Given the description of an element on the screen output the (x, y) to click on. 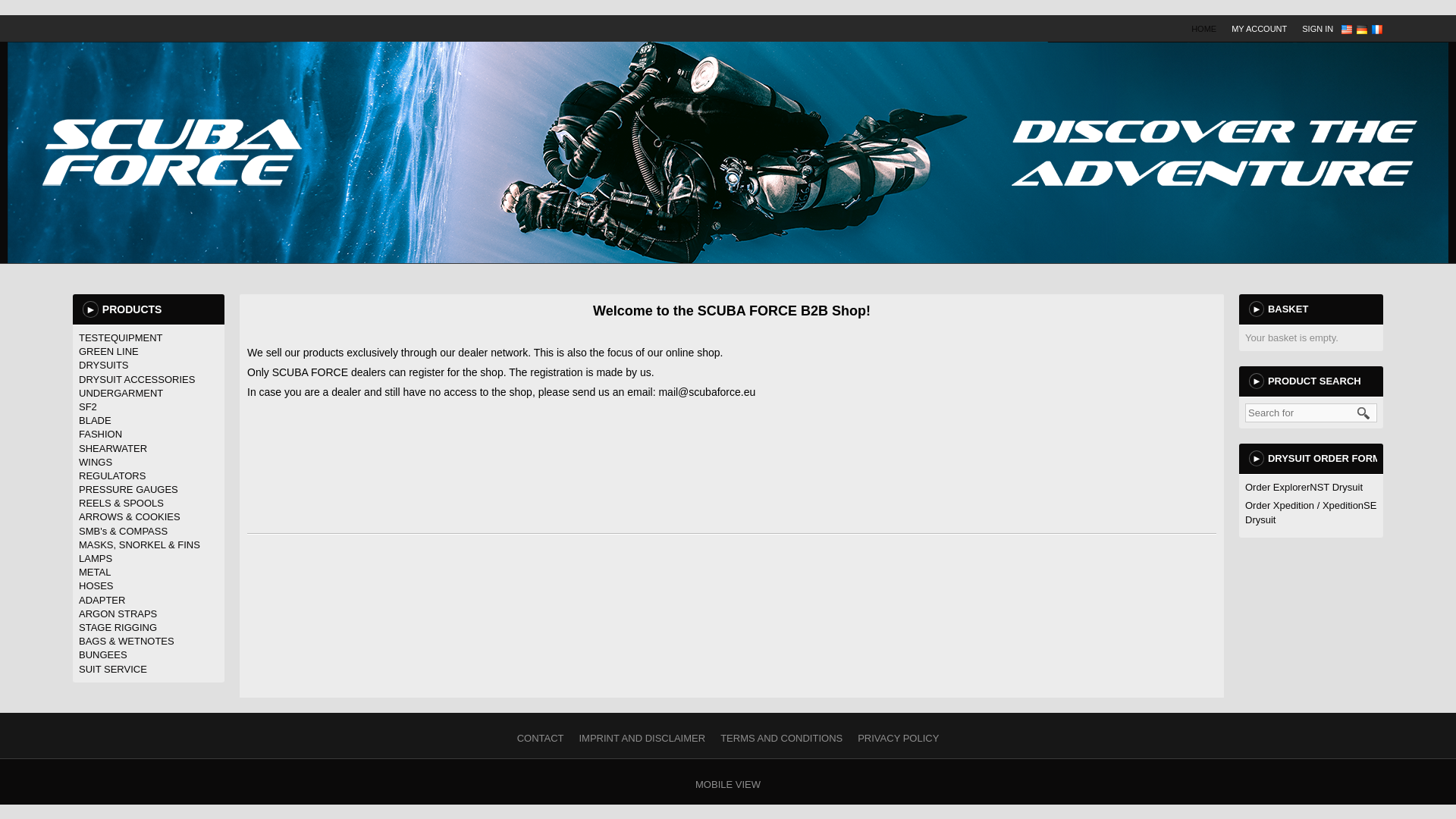
Order ExplorerNST Drysuit (1303, 487)
ARGON STRAPS (117, 613)
LAMPS (95, 558)
STAGE RIGGING (117, 627)
BLADE (95, 419)
DRYSUITS (103, 365)
PRESSURE GAUGES (127, 489)
CONTACT (544, 738)
BUNGEES (103, 654)
HOSES (95, 585)
Start search (1363, 412)
WINGS (95, 461)
REGULATORS (111, 475)
UNDERGARMENT (120, 392)
MOBILE VIEW (731, 783)
